Given the description of an element on the screen output the (x, y) to click on. 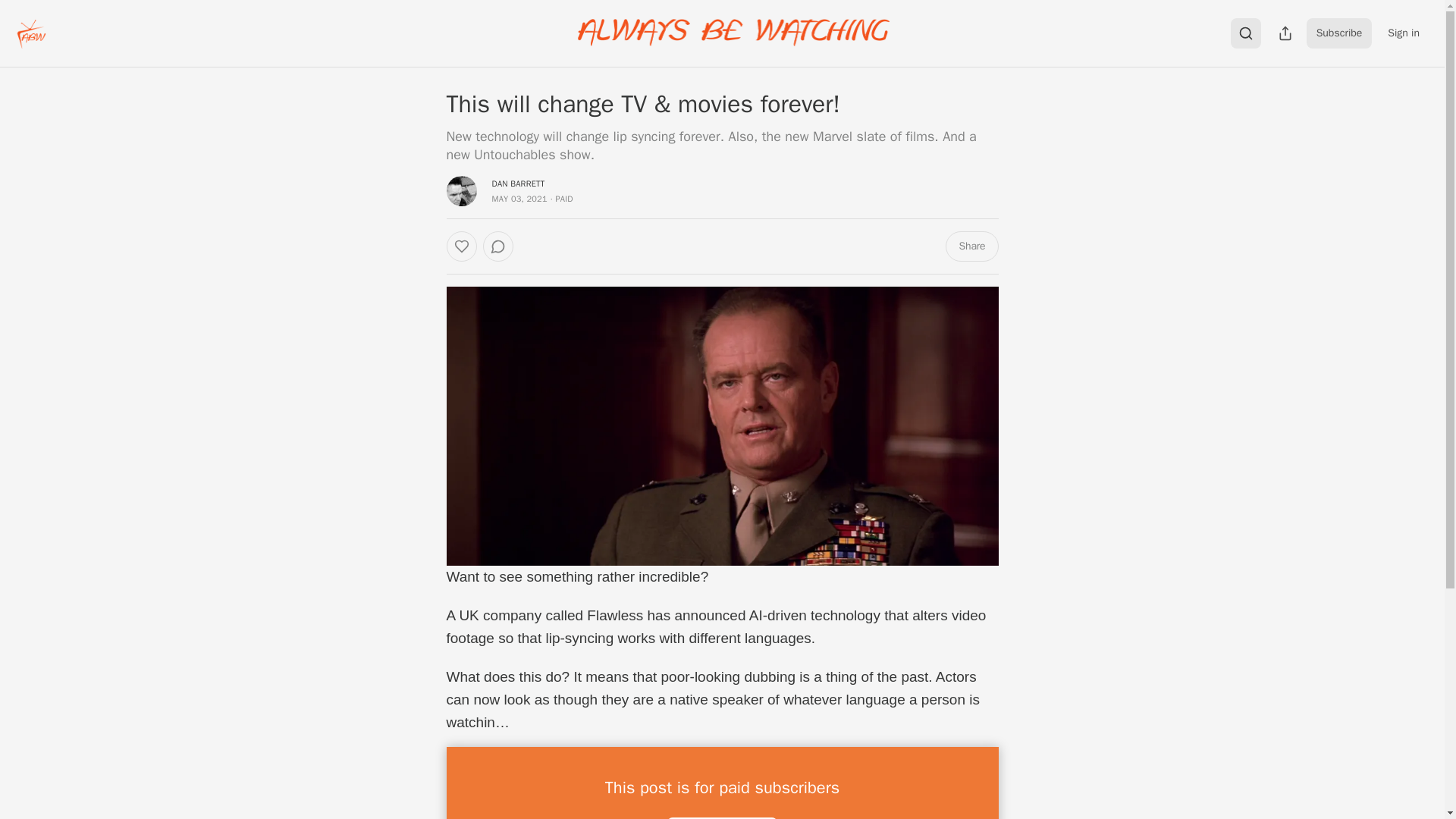
Subscribe (1339, 33)
Subscribe (721, 818)
Sign in (1403, 33)
DAN BARRETT (518, 183)
Share (970, 245)
